Given the description of an element on the screen output the (x, y) to click on. 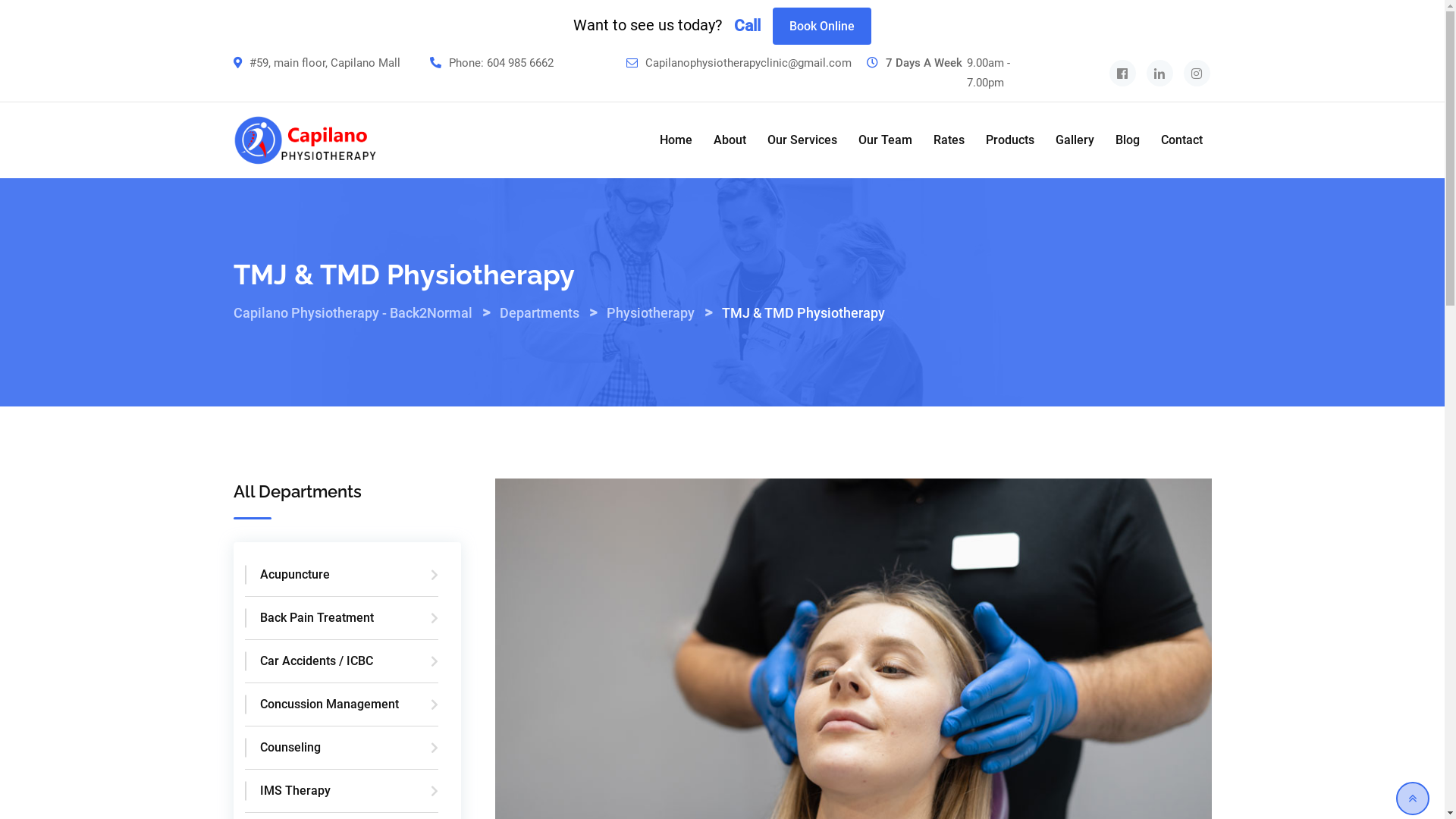
Car Accidents / ICBC Element type: text (340, 661)
Capilanophysiotherapyclinic@gmail.com Element type: text (748, 72)
Departments Element type: text (538, 312)
Counseling Element type: text (340, 747)
Blog Element type: text (1126, 140)
Concussion Management Element type: text (340, 704)
Rates Element type: text (947, 140)
Contact Element type: text (1181, 140)
Capilano Physiotherapy - Back2Normal Element type: text (352, 312)
604 985 6662 Element type: text (519, 72)
About Element type: text (728, 140)
Our Team Element type: text (885, 140)
Back Pain Treatment Element type: text (340, 618)
Home Element type: text (675, 140)
IMS Therapy Element type: text (340, 790)
Products Element type: text (1009, 140)
Call Element type: text (746, 25)
Acupuncture Element type: text (340, 574)
Book Online Element type: text (821, 25)
Physiotherapy Element type: text (650, 312)
Gallery Element type: text (1074, 140)
Our Services Element type: text (802, 140)
